Given the description of an element on the screen output the (x, y) to click on. 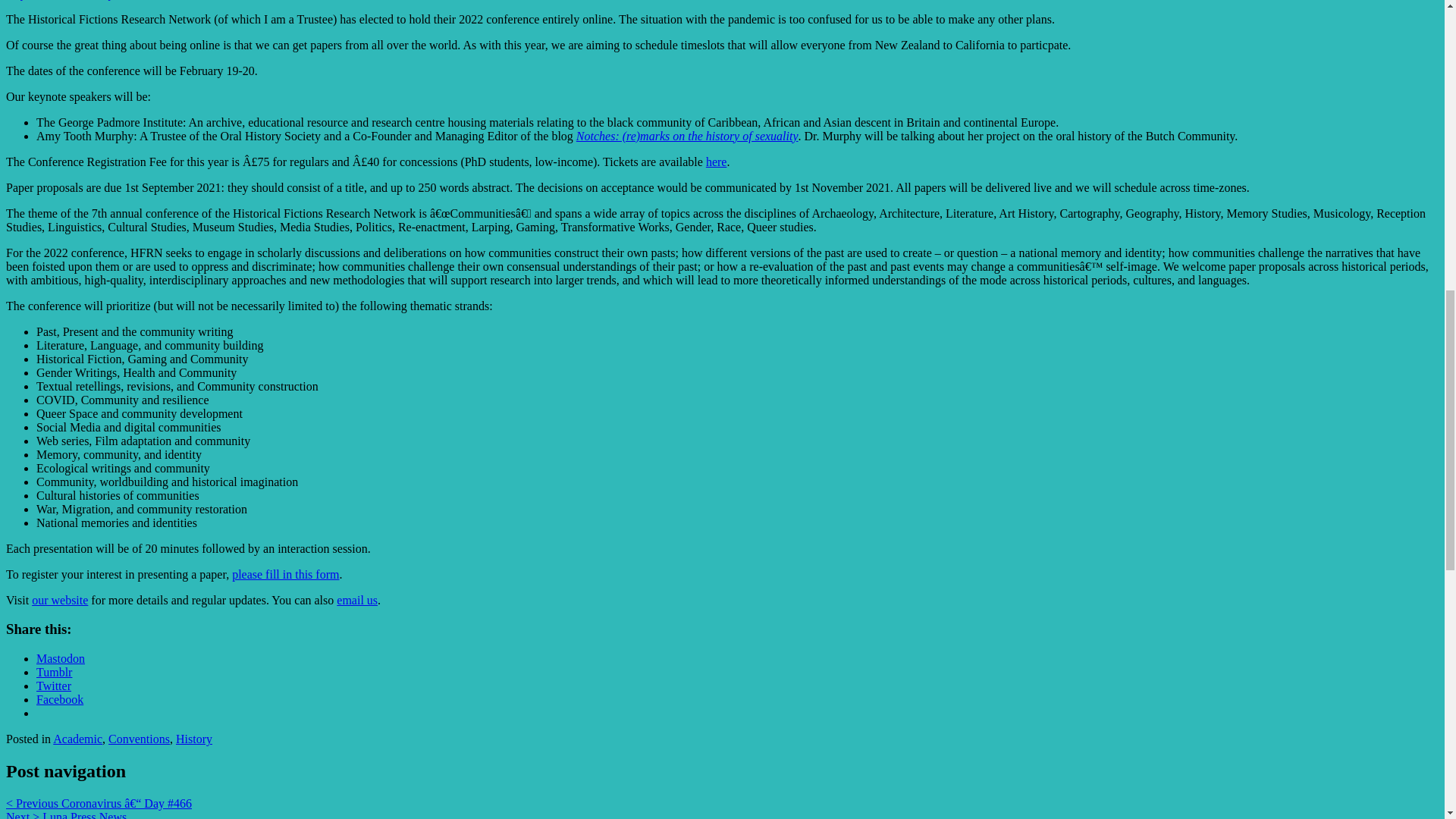
email us (356, 599)
Mastodon (60, 658)
please fill in this form (285, 574)
Click to share on Facebook (59, 698)
Click to share on Twitter (53, 685)
Click to share on Mastodon (60, 658)
our website (59, 599)
Click to share on Tumblr (53, 671)
here (716, 161)
